Given the description of an element on the screen output the (x, y) to click on. 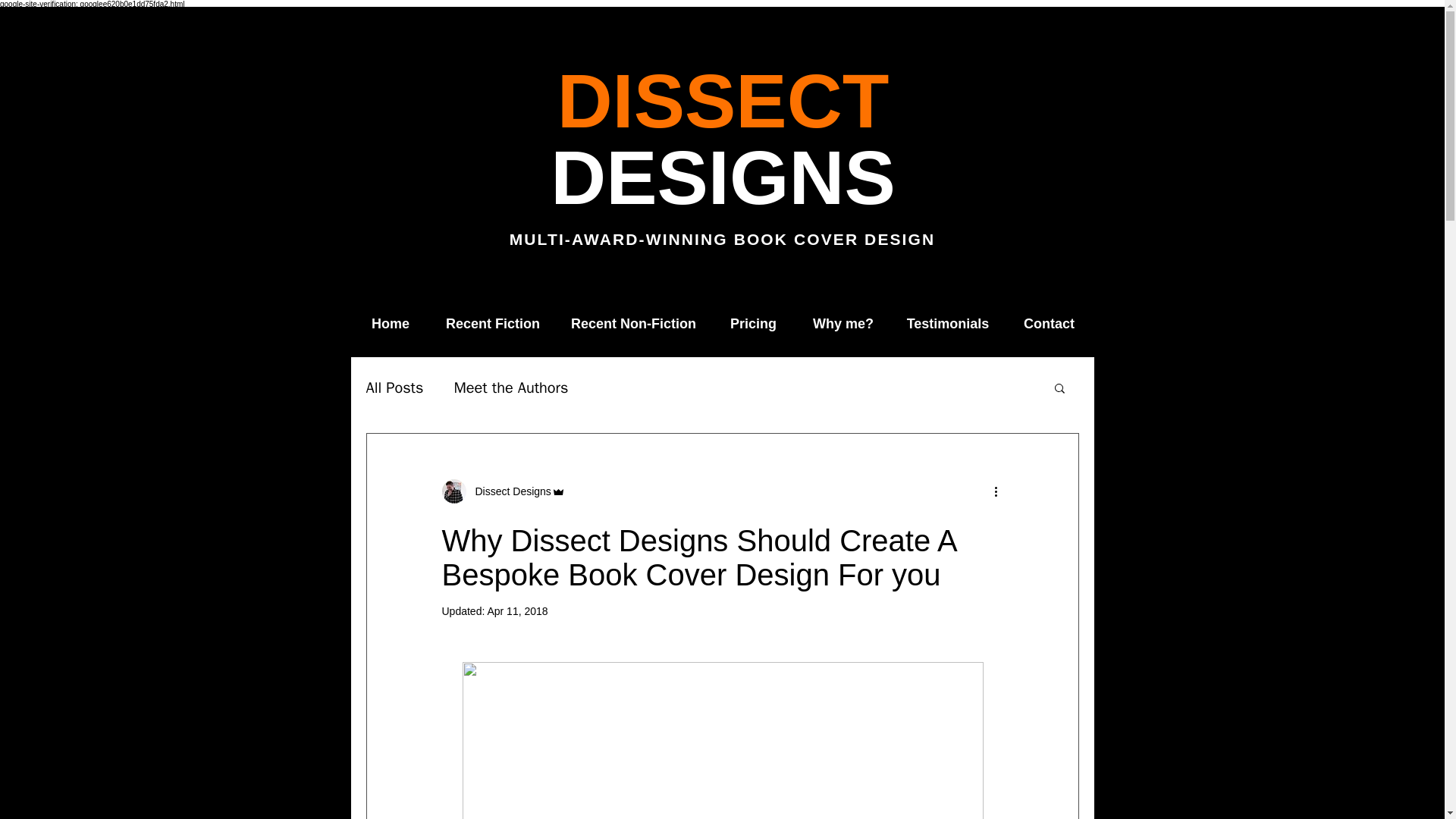
Apr 11, 2018 (516, 611)
Dissect Designs (502, 491)
DESIGNS (722, 177)
Testimonials (947, 323)
Contact (1048, 323)
Why me? (842, 323)
Recent Non-Fiction (632, 323)
All Posts (394, 387)
Meet the Authors (509, 387)
Home (389, 323)
Pricing (752, 323)
Recent Fiction (493, 323)
Dissect Designs (507, 491)
DISSECT (723, 100)
